Given the description of an element on the screen output the (x, y) to click on. 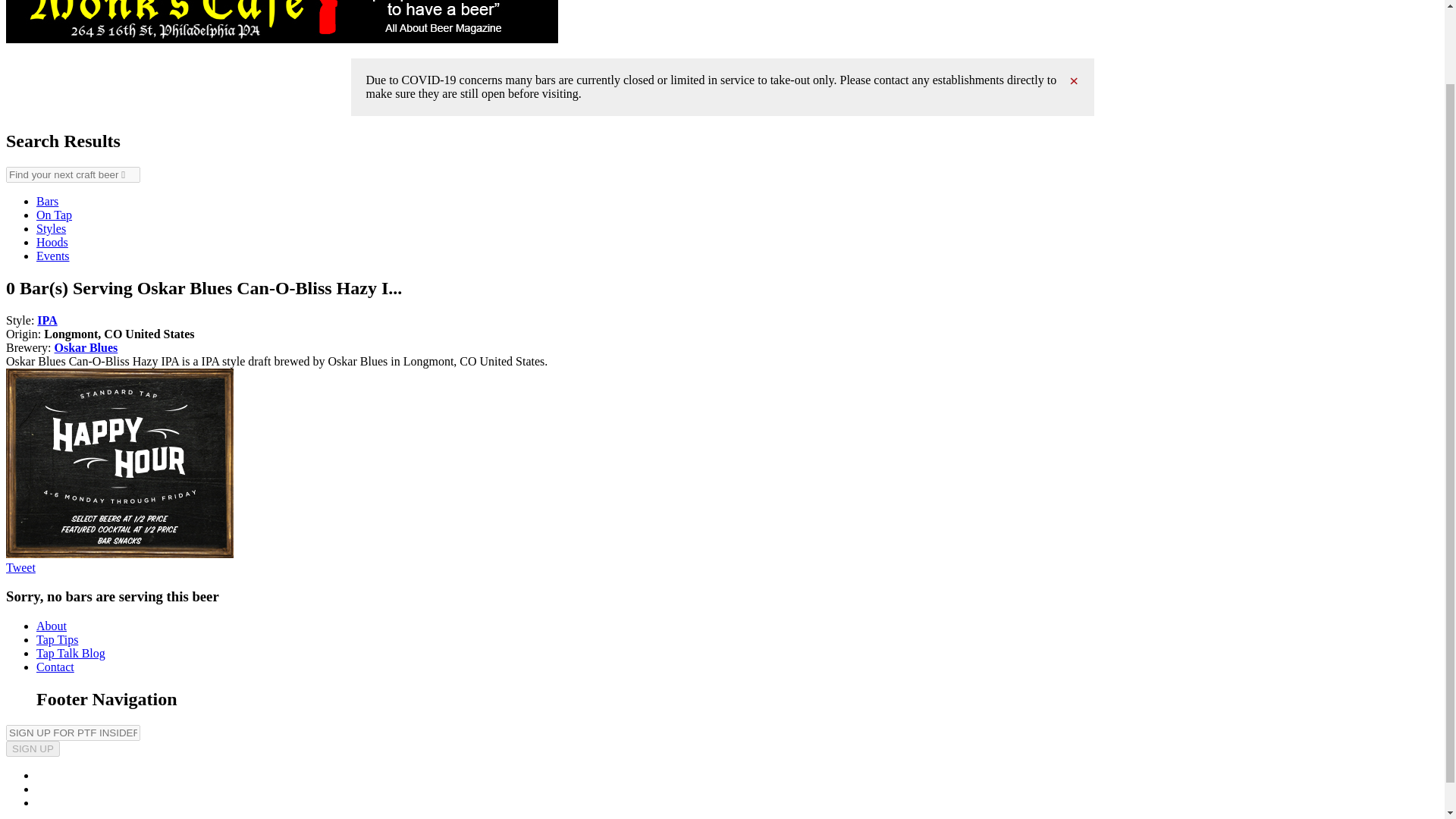
Tap Tips (57, 639)
Tweet (19, 566)
Tap Tips (57, 639)
About (51, 625)
Oskar Blues (86, 346)
Tap Talk Blog (70, 653)
Contact (55, 666)
About (51, 625)
Tap Talk Blog (70, 653)
Contact (55, 666)
IPA (46, 318)
SIGN UP (32, 748)
SIGN UP (32, 748)
IPA (46, 318)
